Given the description of an element on the screen output the (x, y) to click on. 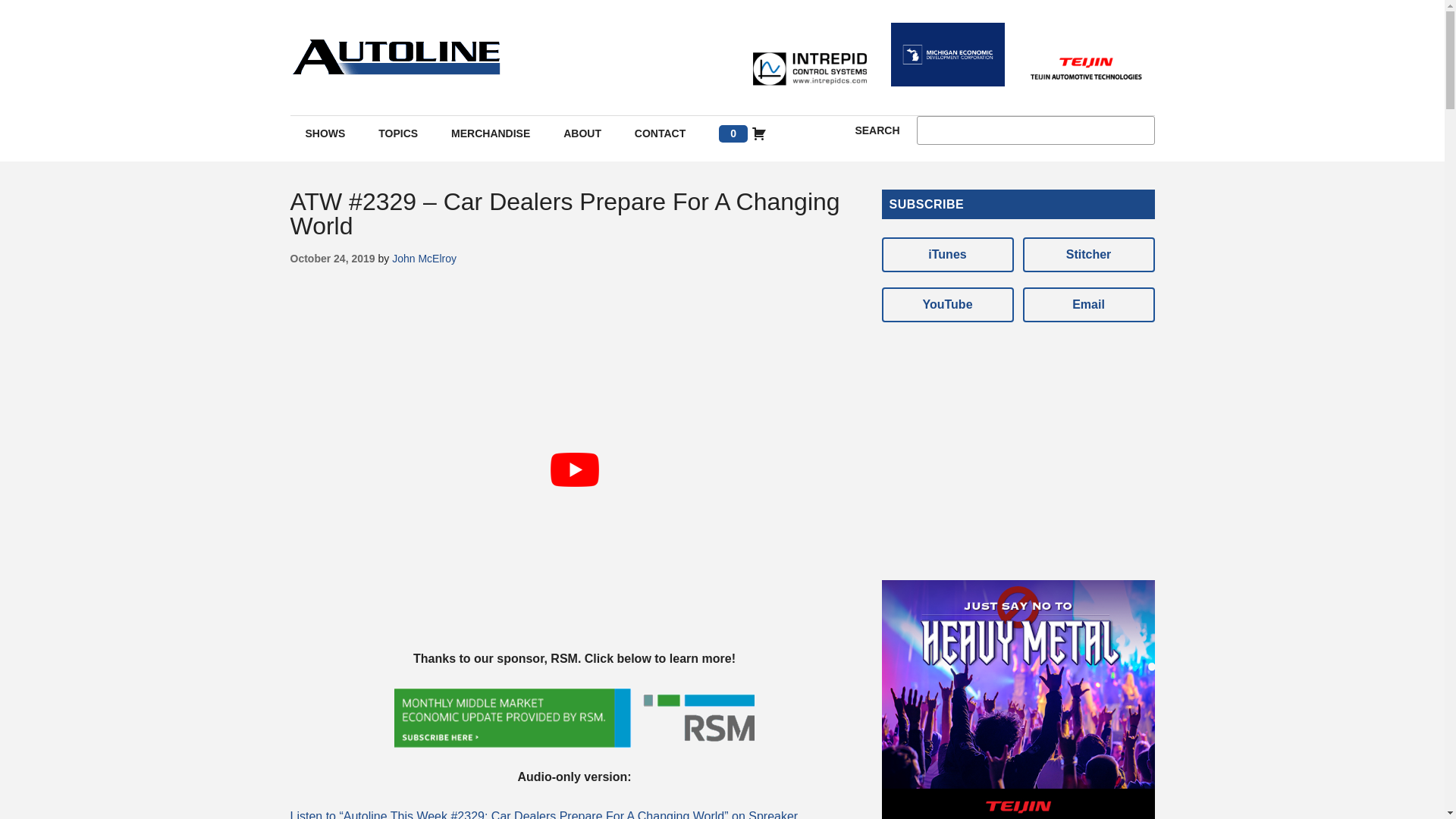
TOPICS (397, 133)
John McElroy (424, 258)
CONTACT (660, 133)
SHOWS (324, 133)
MERCHANDISE (489, 133)
ABOUT (581, 133)
0 (742, 133)
